Given the description of an element on the screen output the (x, y) to click on. 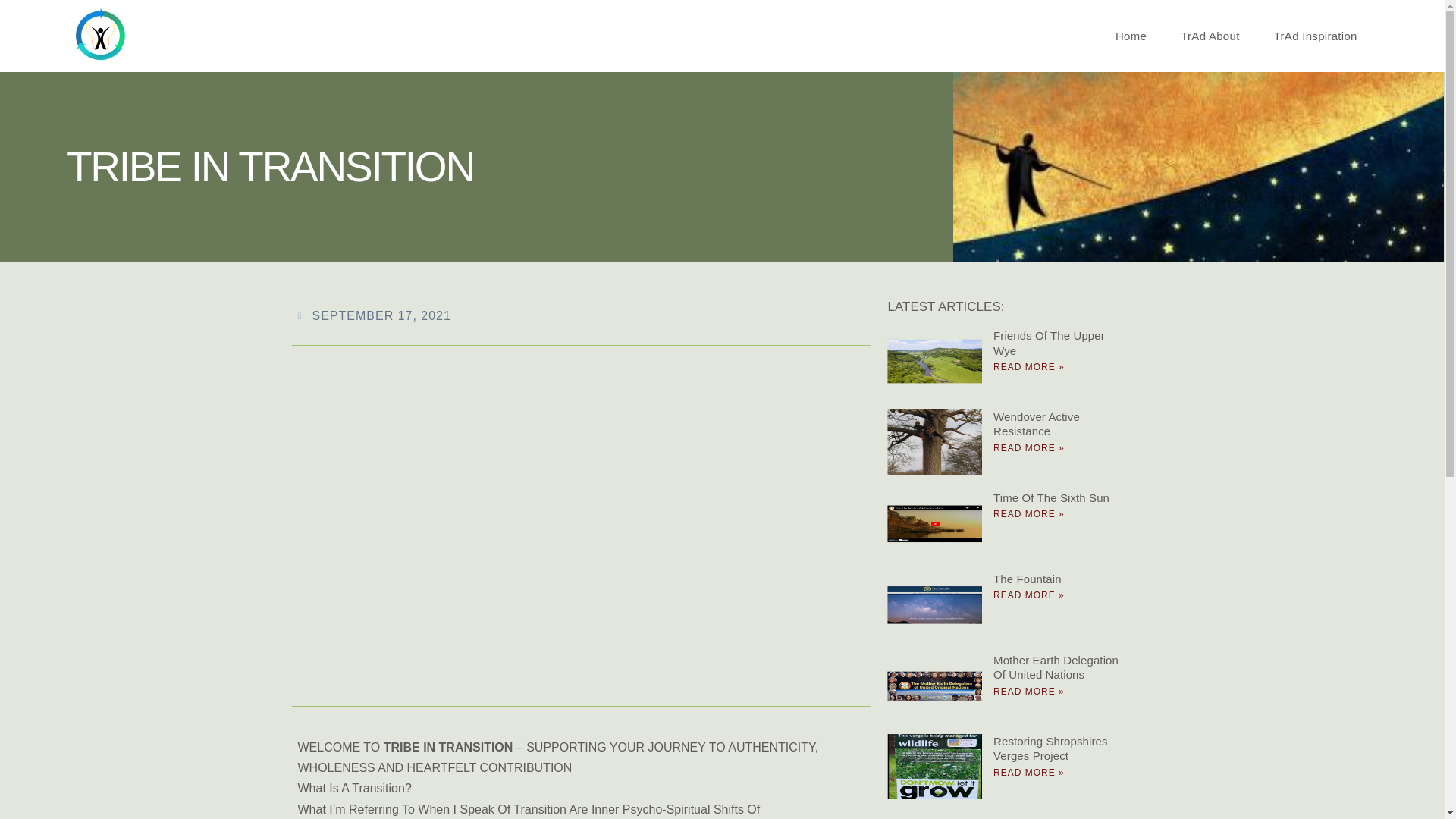
Home (1130, 35)
The Fountain (1026, 578)
Restoring Shropshires Verges Project (1050, 748)
Friends Of The Upper Wye (1048, 343)
TrAd Inspiration (1316, 35)
TrAd About (1210, 35)
SEPTEMBER 17, 2021 (373, 315)
Wendover Active Resistance (1036, 424)
Time Of The Sixth Sun (1050, 497)
Mother Earth Delegation Of United Nations (1055, 667)
